Given the description of an element on the screen output the (x, y) to click on. 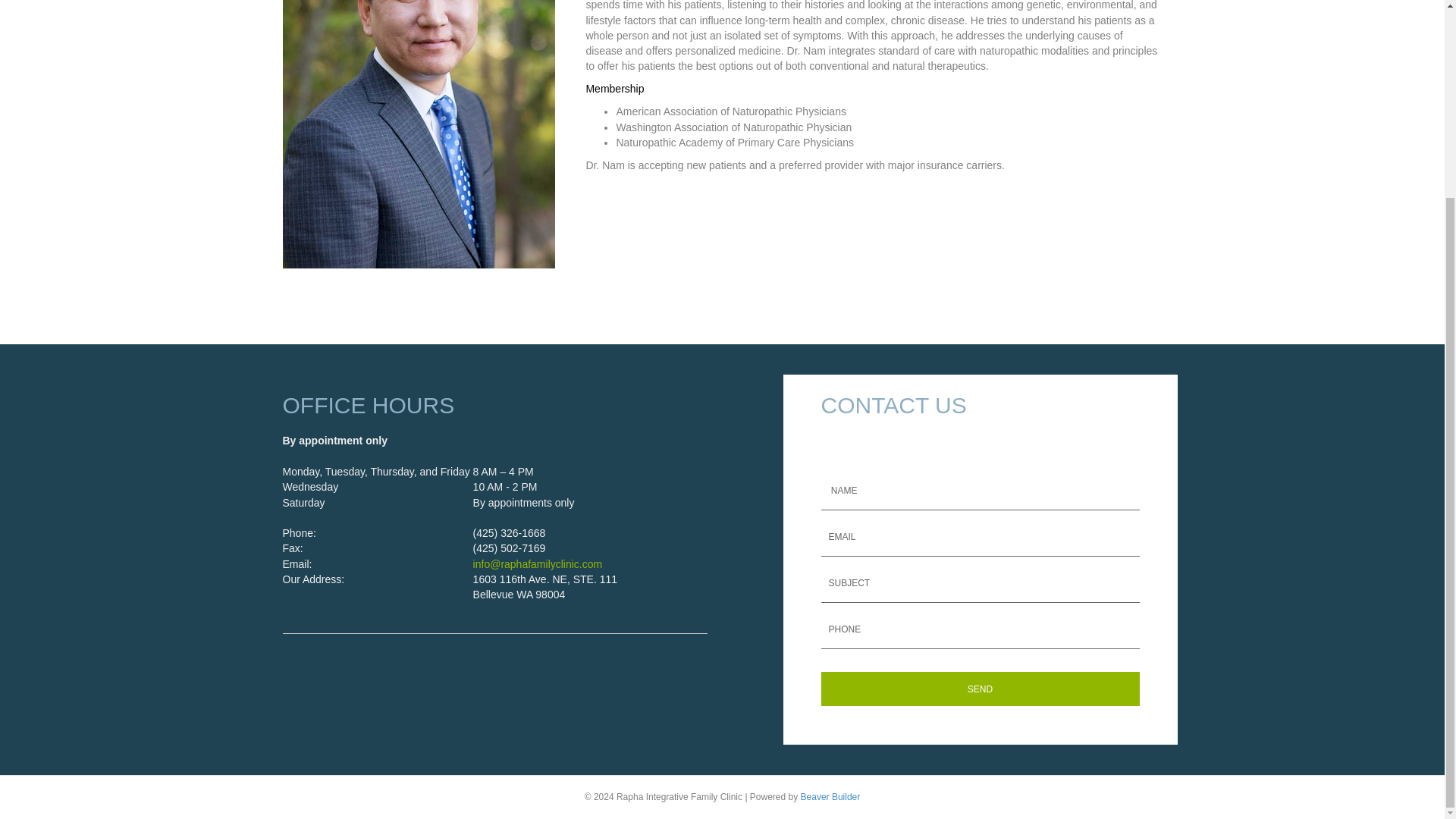
SEND (979, 688)
Beaver Builder (830, 796)
Dr. Nam (418, 134)
WordPress Page Builder Plugin (830, 796)
